Given the description of an element on the screen output the (x, y) to click on. 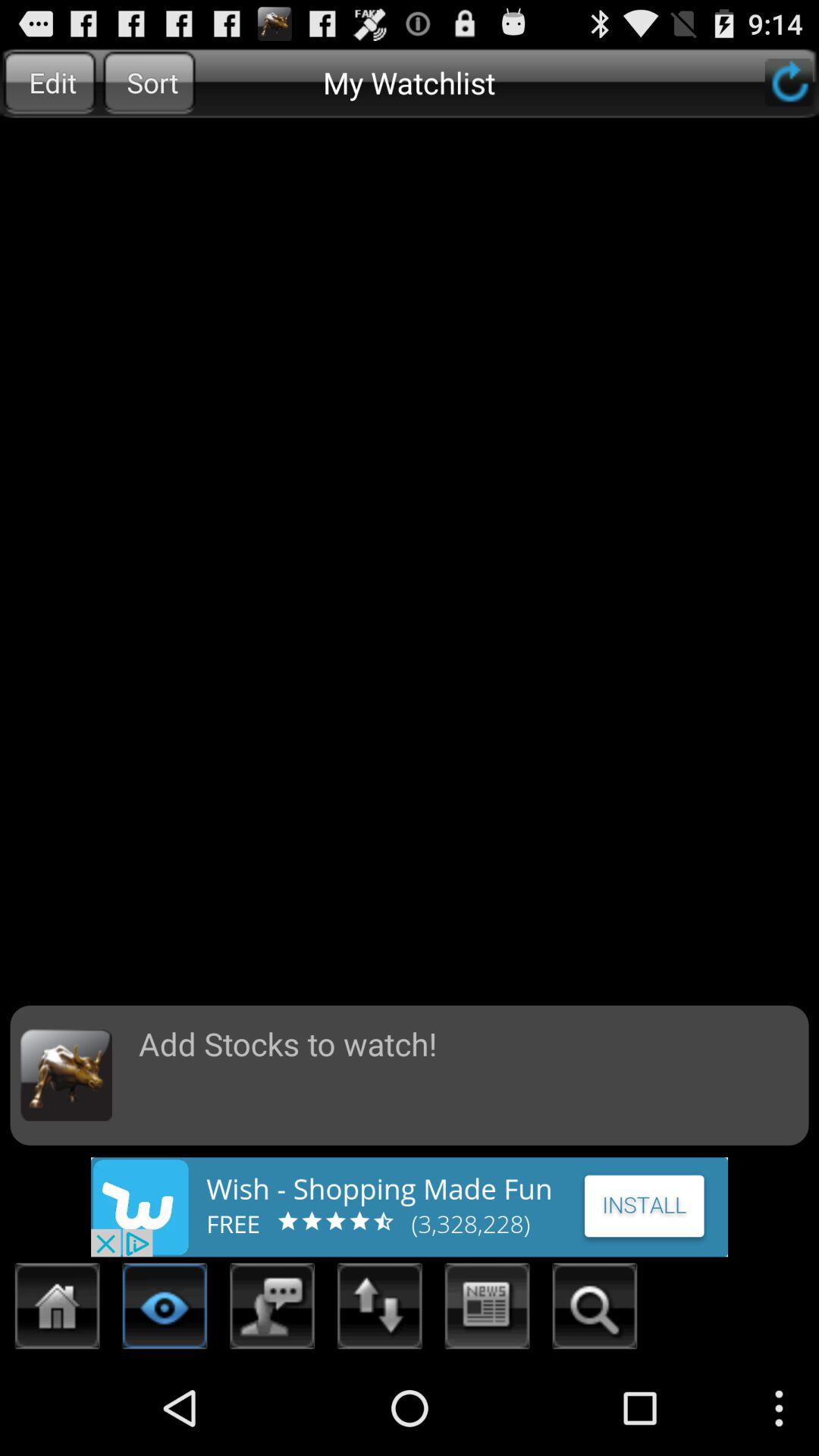
chat with others (272, 1310)
